Given the description of an element on the screen output the (x, y) to click on. 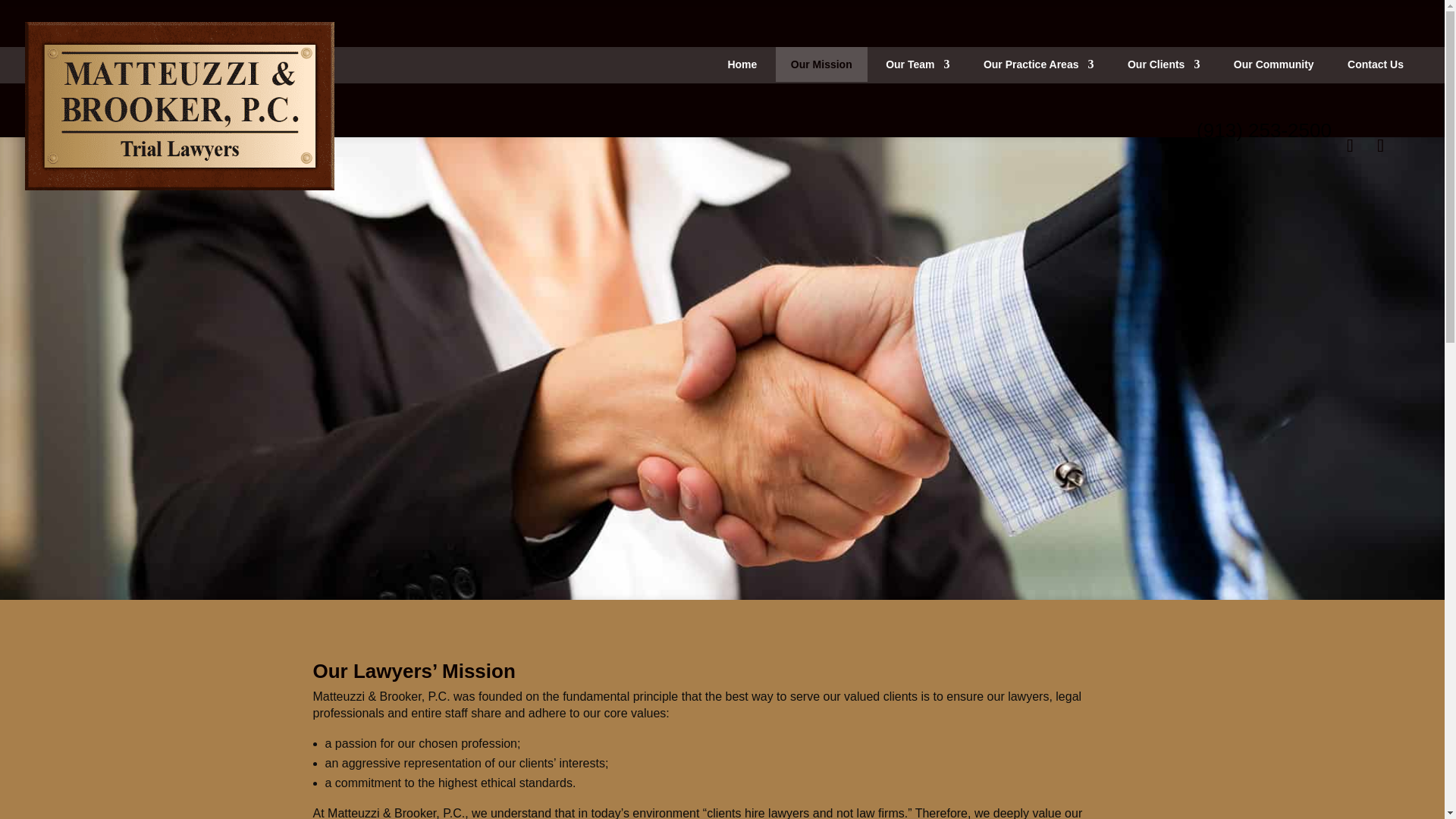
Our Community (1273, 63)
Our Team (917, 63)
Our Mission (820, 63)
Contact Us (1375, 63)
Home (741, 63)
Our Practice Areas (1039, 63)
Our Clients (1162, 63)
